Given the description of an element on the screen output the (x, y) to click on. 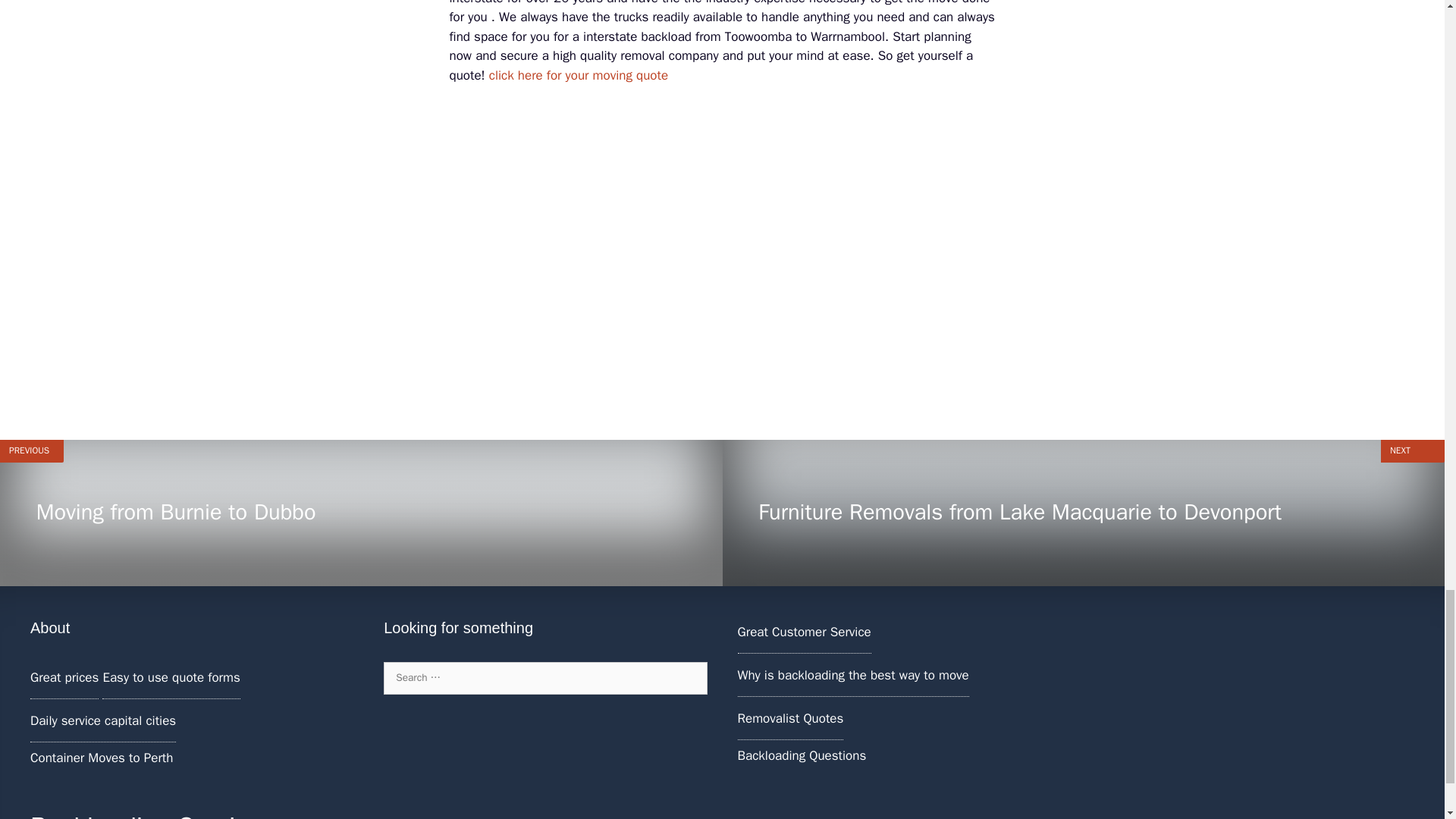
Great Customer Service (803, 631)
Why is backloading the best way to move (852, 675)
Removalist Quotes (361, 512)
Backloading Questions (789, 718)
click here for your moving quote (801, 755)
Search for: (578, 75)
